Given the description of an element on the screen output the (x, y) to click on. 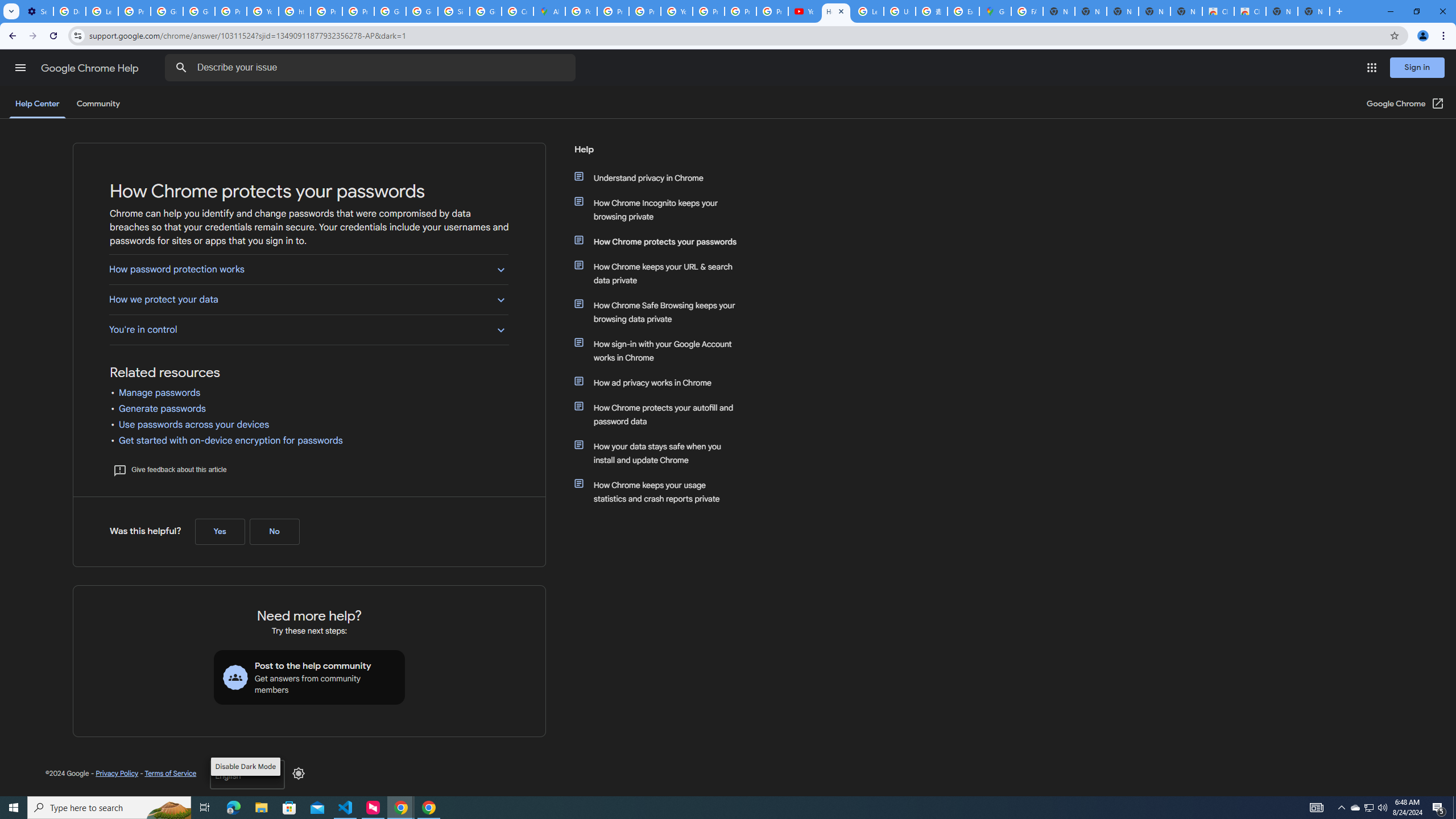
Privacy Help Center - Policies Help (326, 11)
How Chrome Safe Browsing keeps your browsing data private (661, 312)
New Tab (1313, 11)
Manage passwords (159, 392)
Understand privacy in Chrome (661, 177)
How Chrome protects your passwords - Google Chrome Help (836, 11)
How Chrome keeps your URL & search data private (661, 273)
Help (656, 153)
No (Was this helpful?) (273, 531)
Classic Blue - Chrome Web Store (1249, 11)
Classic Blue - Chrome Web Store (1217, 11)
Describe your issue (371, 67)
